Given the description of an element on the screen output the (x, y) to click on. 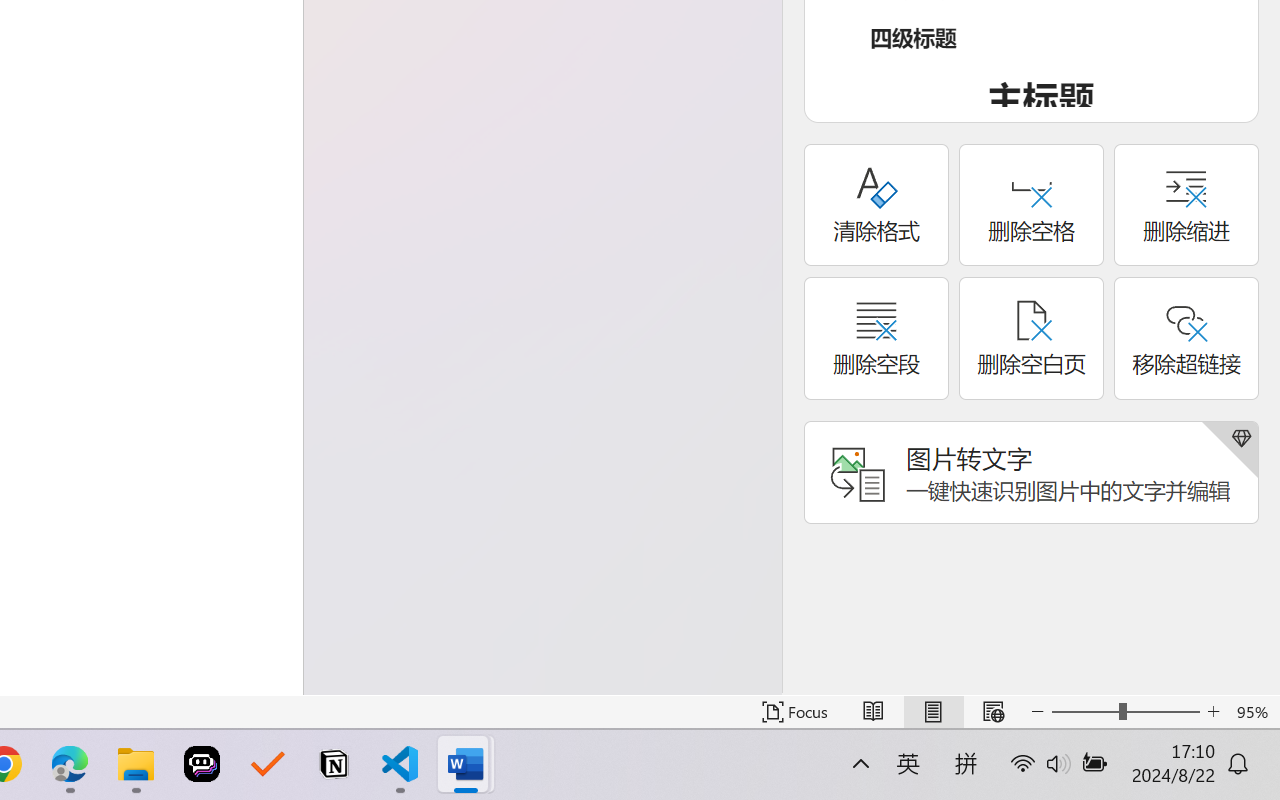
Zoom 95% (1253, 712)
